Given the description of an element on the screen output the (x, y) to click on. 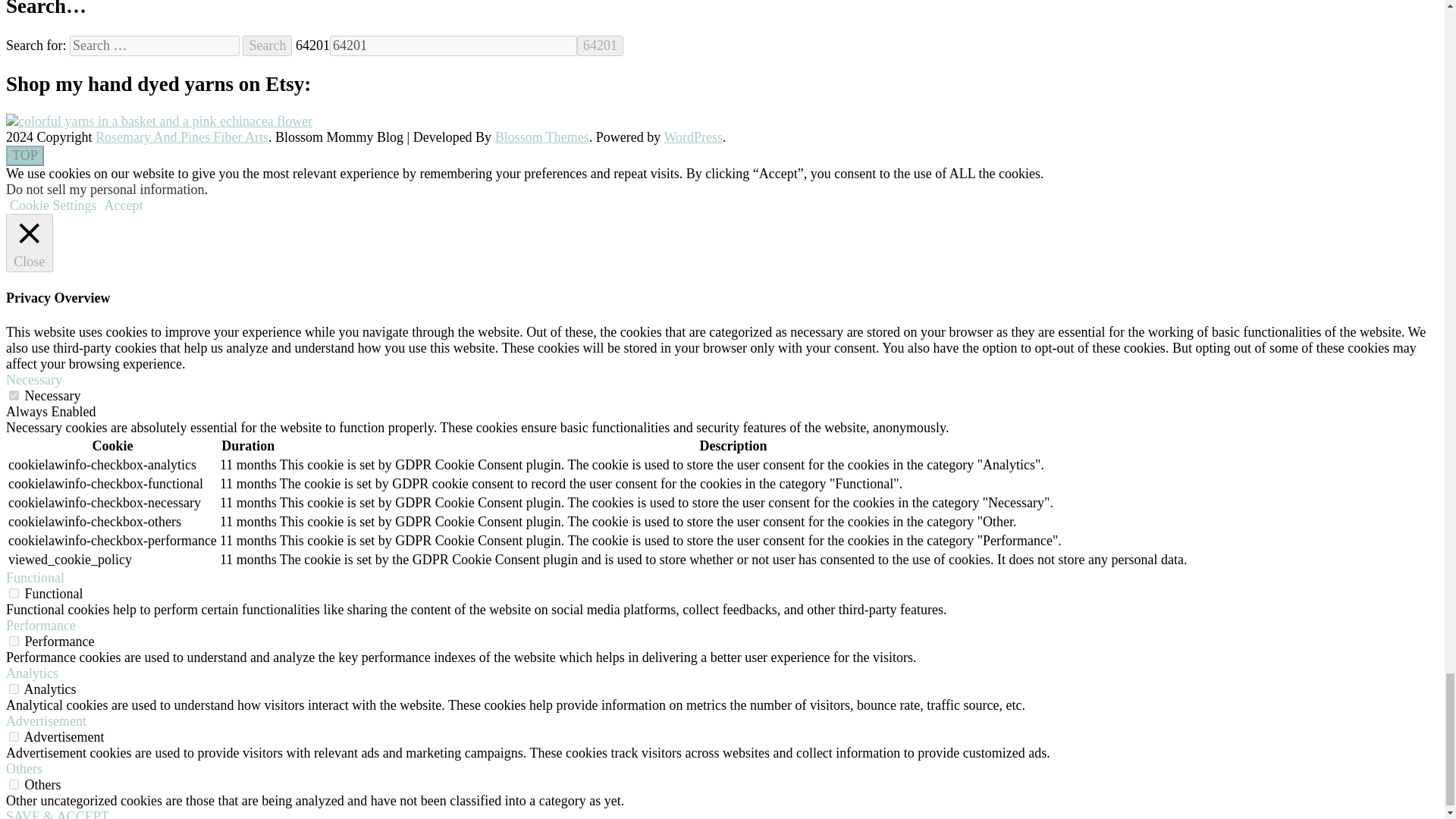
on (13, 395)
64201 (599, 46)
64201 (453, 46)
on (13, 784)
on (13, 688)
Search (267, 46)
on (13, 641)
on (13, 737)
on (13, 593)
64201 (599, 46)
